Given the description of an element on the screen output the (x, y) to click on. 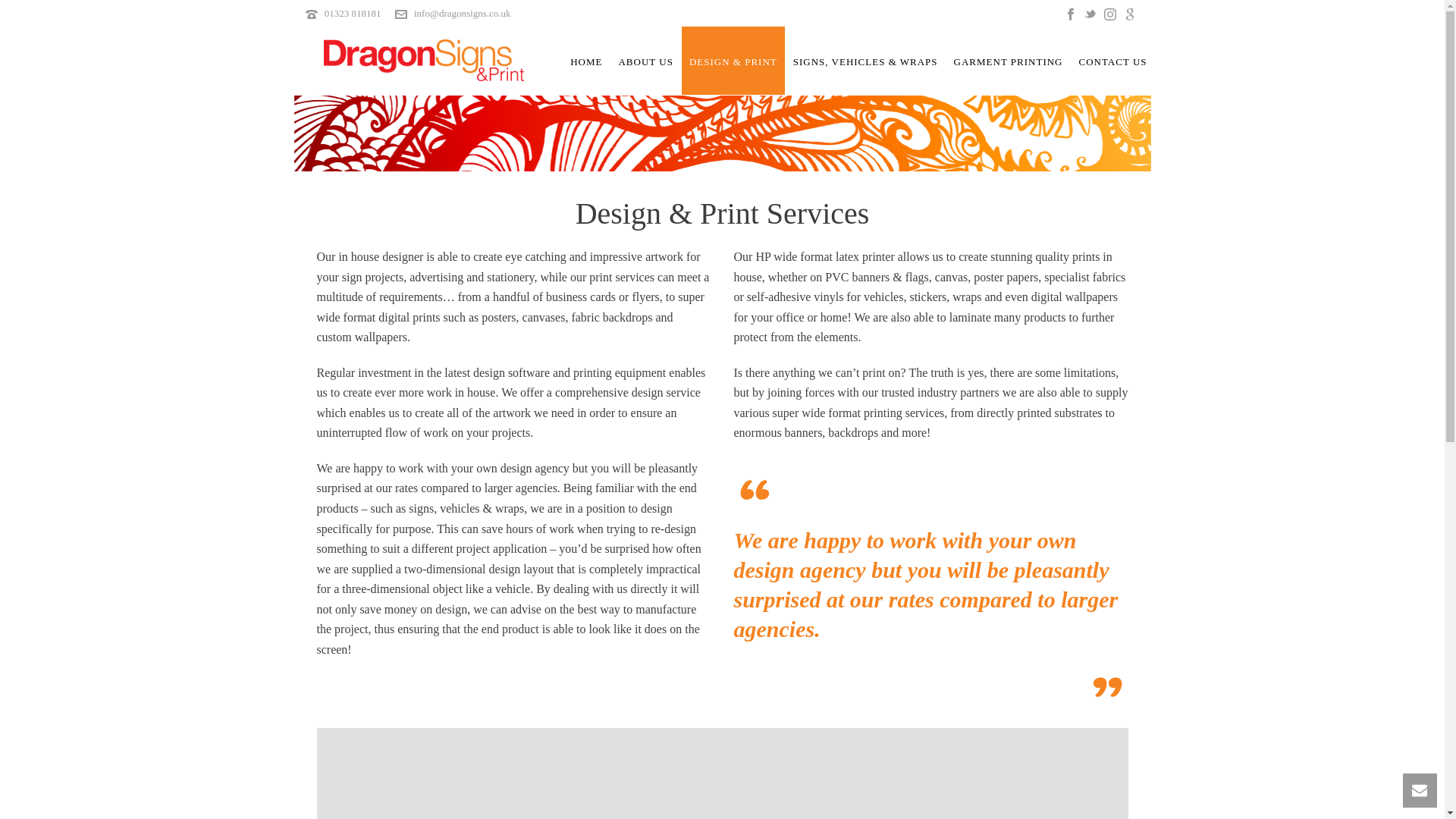
ABOUT US (644, 60)
GARMENT PRINTING (1008, 60)
01323 818181 (352, 12)
Print Services Hailsham East Sussex (423, 60)
CONTACT US (1112, 60)
ABOUT US (644, 60)
GARMENT PRINTING (1008, 60)
CONTACT US (1112, 60)
